Given the description of an element on the screen output the (x, y) to click on. 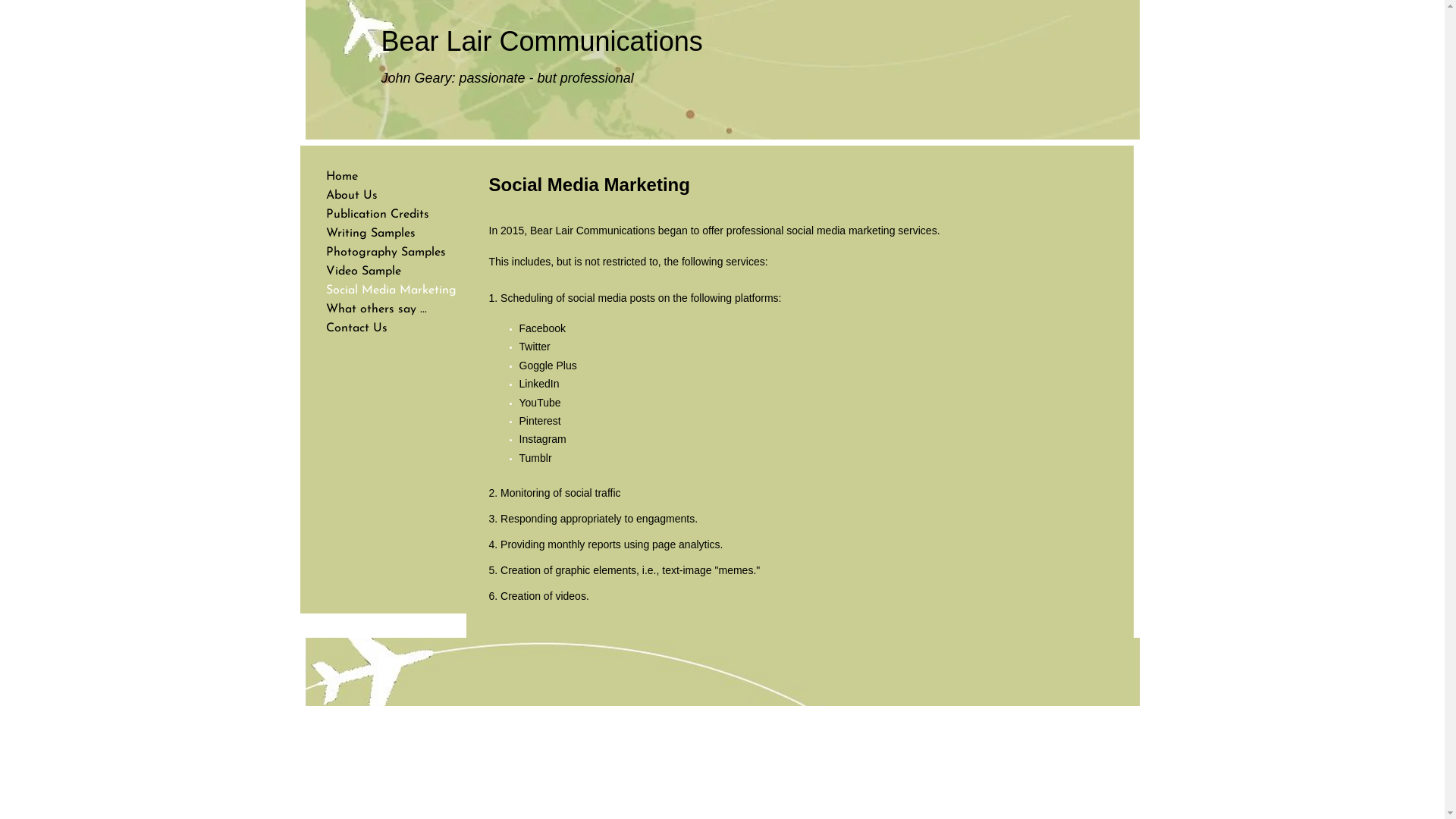
About Us Element type: text (351, 195)
Video Sample Element type: text (363, 271)
Social Media Marketing Element type: text (391, 290)
Publication Credits Element type: text (377, 214)
Writing Samples Element type: text (370, 233)
Contact Us Element type: text (356, 328)
What others say ... Element type: text (376, 309)
Photography Samples Element type: text (385, 252)
Home Element type: text (341, 176)
